Given the description of an element on the screen output the (x, y) to click on. 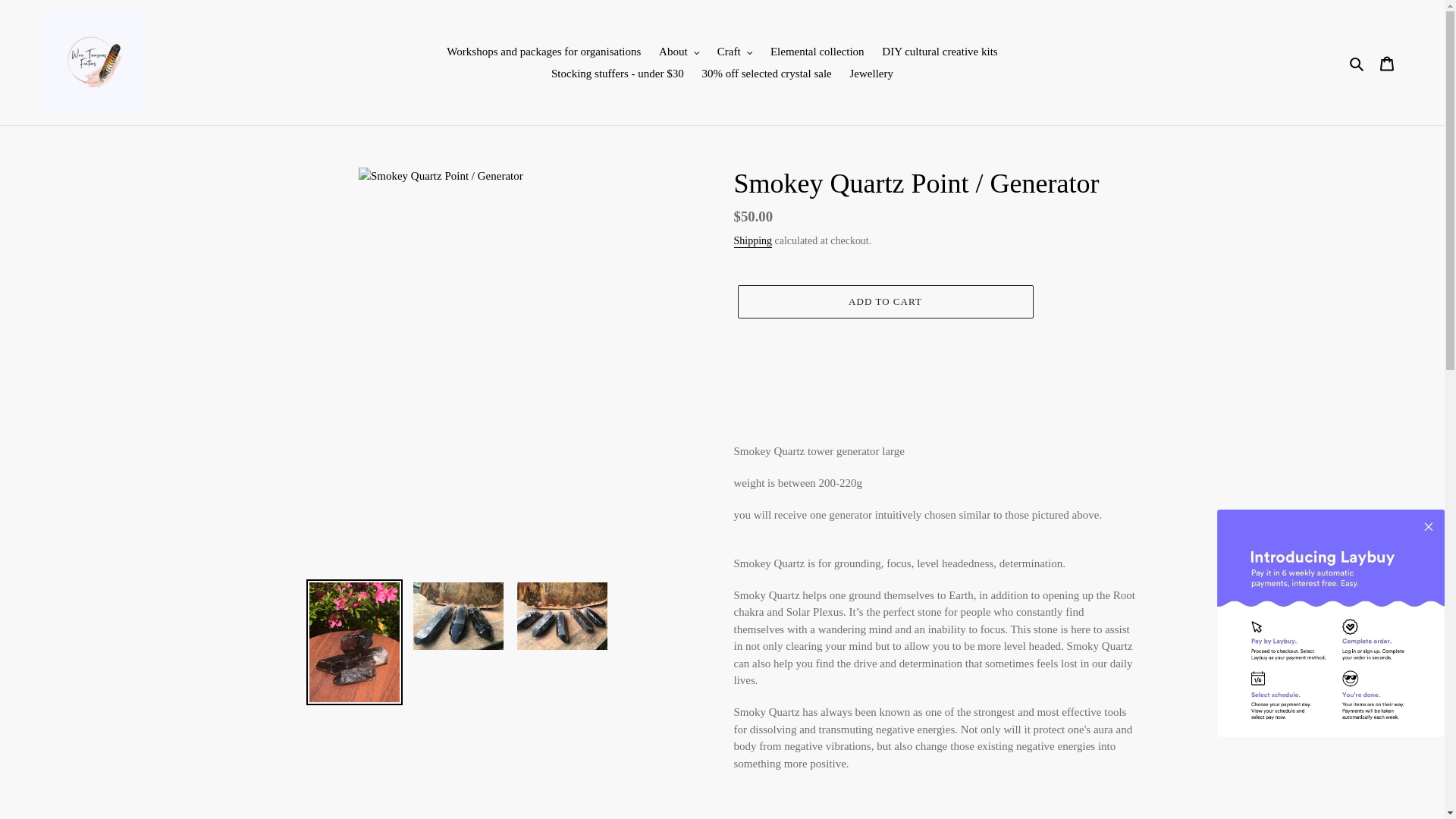
DIY cultural creative kits (939, 51)
Cart (1387, 61)
About (678, 51)
Search (1357, 62)
Jewellery (872, 73)
Workshops and packages for organisations (543, 51)
Shipping (753, 241)
Craft (735, 51)
ADD TO CART (884, 301)
Elemental collection (817, 51)
